Given the description of an element on the screen output the (x, y) to click on. 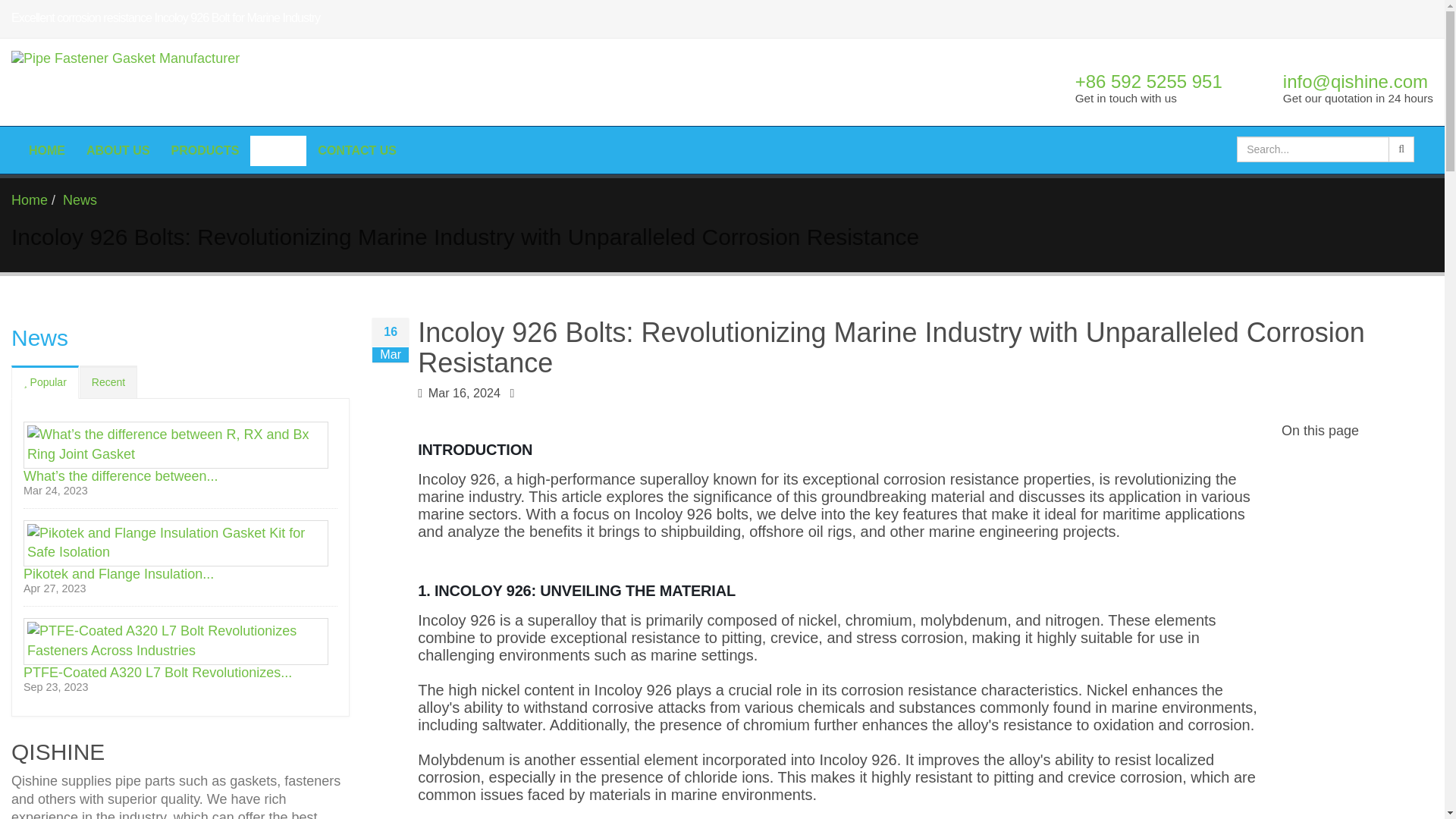
News (277, 150)
Pipe Fastener Gasket Manufacturer (267, 81)
ABOUT US (118, 150)
About us (118, 150)
PRODUCTS (204, 150)
Home (46, 150)
Home (29, 200)
HOME (46, 150)
INTRODUCTION (840, 449)
Pipe Fastener Gasket Manufacturer (262, 81)
NEWS (277, 150)
News (79, 200)
Contact us (356, 150)
1. INCOLOY 926: UNVEILING THE MATERIAL (840, 590)
Products (204, 150)
